Given the description of an element on the screen output the (x, y) to click on. 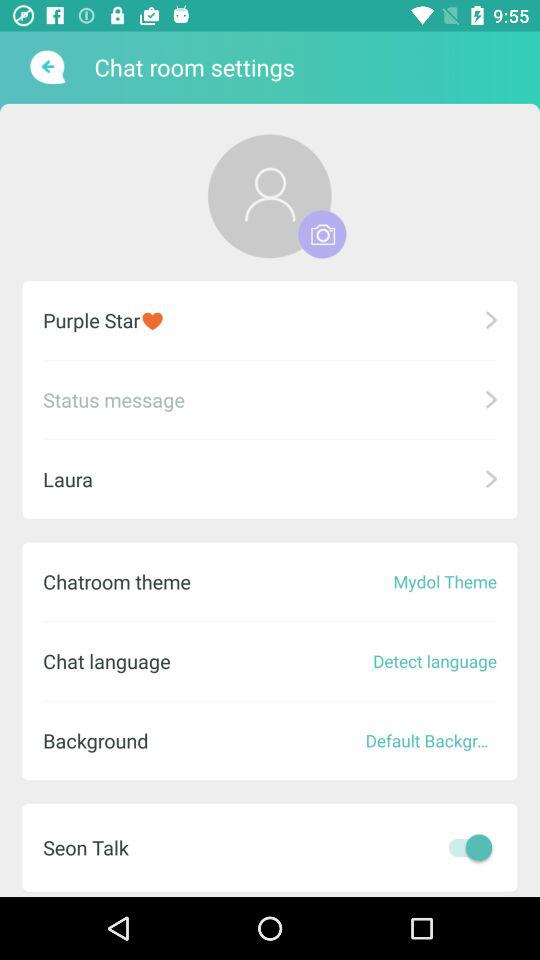
add photo (322, 234)
